Given the description of an element on the screen output the (x, y) to click on. 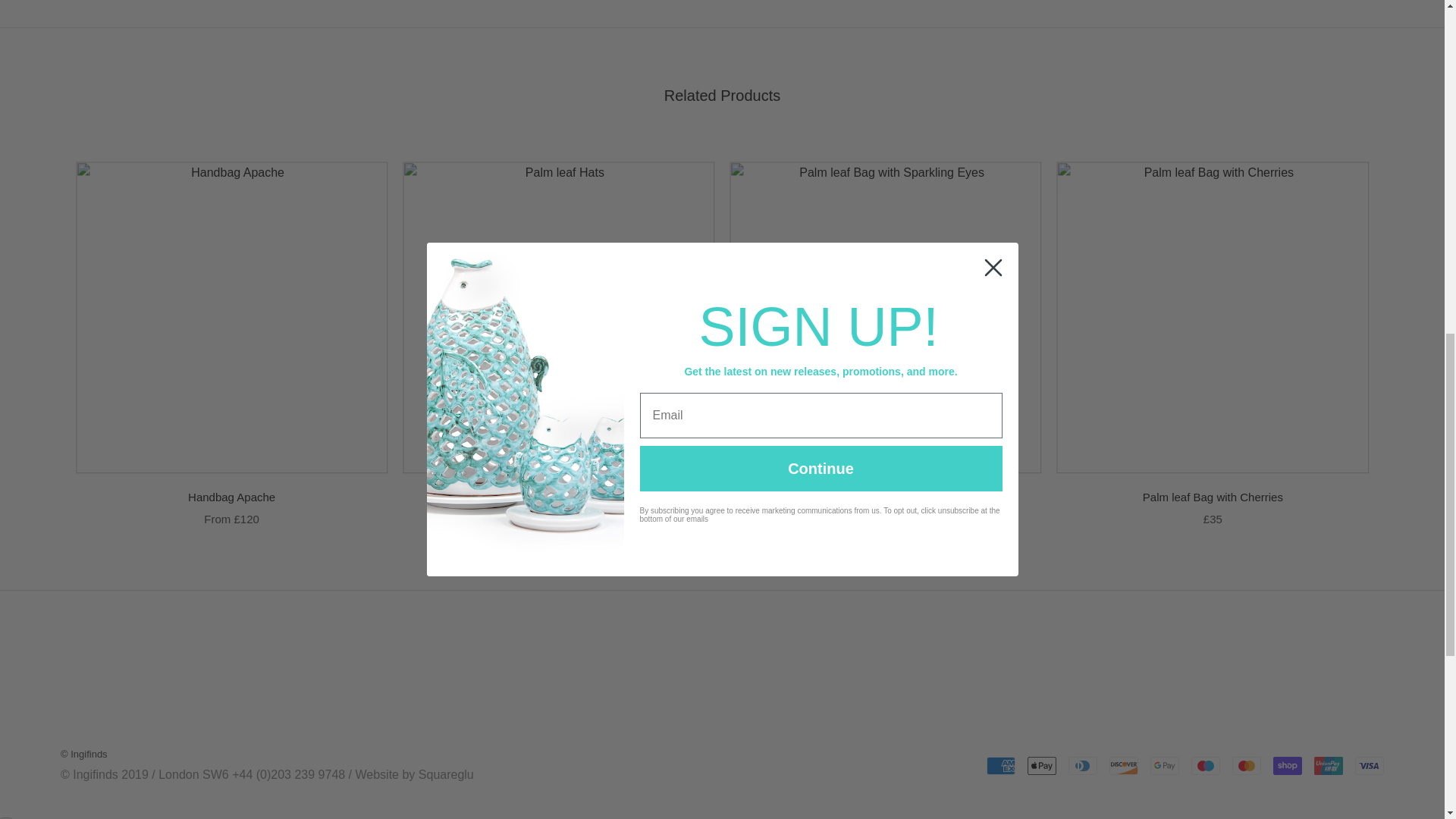
Apple Pay (1042, 765)
Discover (1123, 765)
Union Pay (1328, 765)
American Express (1000, 765)
Mastercard (1245, 765)
Diners Club (1082, 765)
Google Pay (1164, 765)
Shop Pay (1286, 765)
Visa (1369, 765)
Maestro (1205, 765)
